Given the description of an element on the screen output the (x, y) to click on. 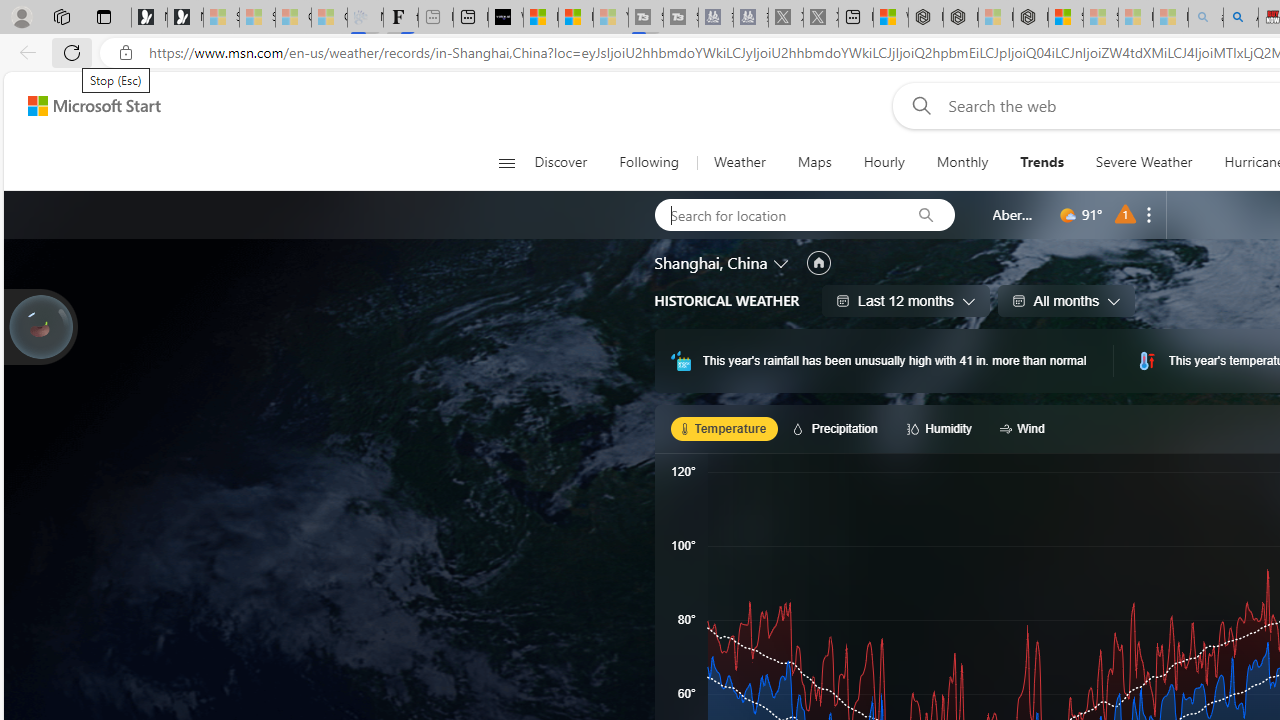
Personal Profile (21, 16)
Hourly (884, 162)
Change location (782, 262)
Newsletter Sign Up (185, 17)
Severe Weather (1144, 162)
Precipitation (838, 428)
Aberdeen (1014, 214)
Web search (917, 105)
Remove location (1149, 214)
X - Sleeping (820, 17)
New tab - Sleeping (435, 17)
Microsoft Start Sports (540, 17)
Following (648, 162)
